Given the description of an element on the screen output the (x, y) to click on. 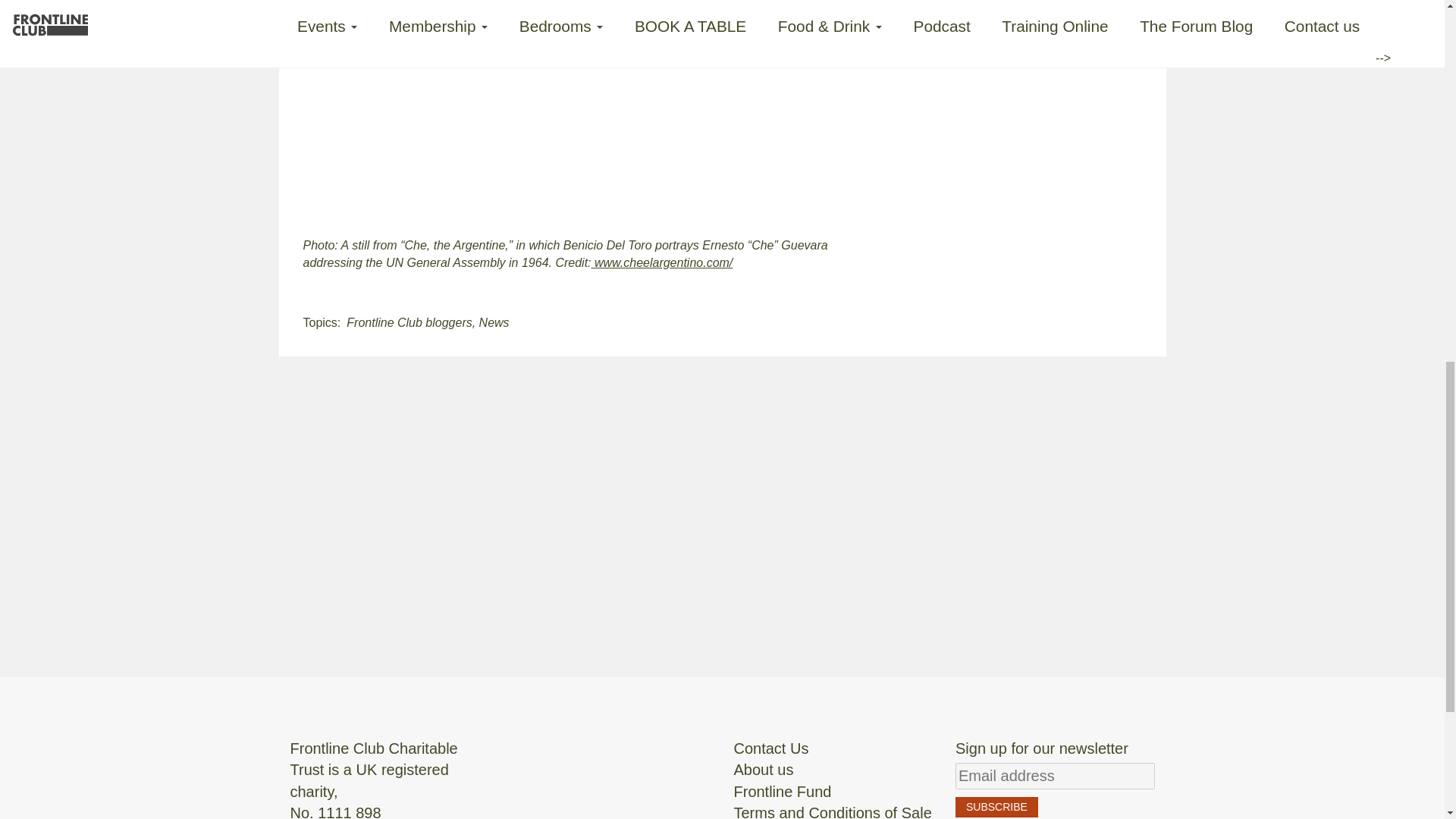
Subscribe (996, 806)
News (494, 322)
Frontline Club bloggers (408, 322)
